Given the description of an element on the screen output the (x, y) to click on. 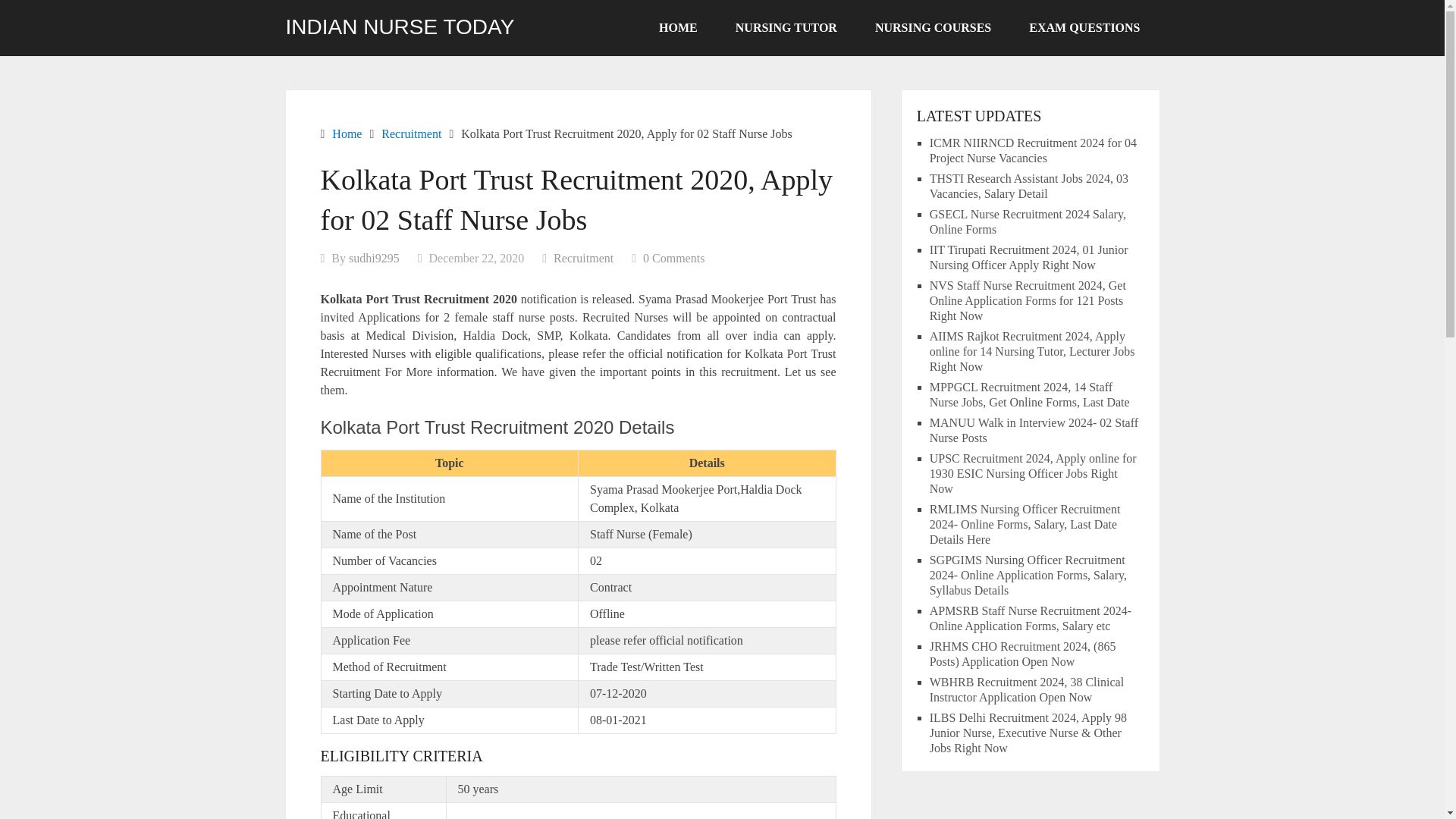
GSECL Nurse Recruitment 2024 Salary, Online Forms (1027, 221)
Posts by sudhi9295 (373, 257)
0 Comments (673, 257)
NURSING TUTOR (786, 28)
Recruitment (582, 257)
Recruitment (411, 133)
HOME (678, 28)
